Given the description of an element on the screen output the (x, y) to click on. 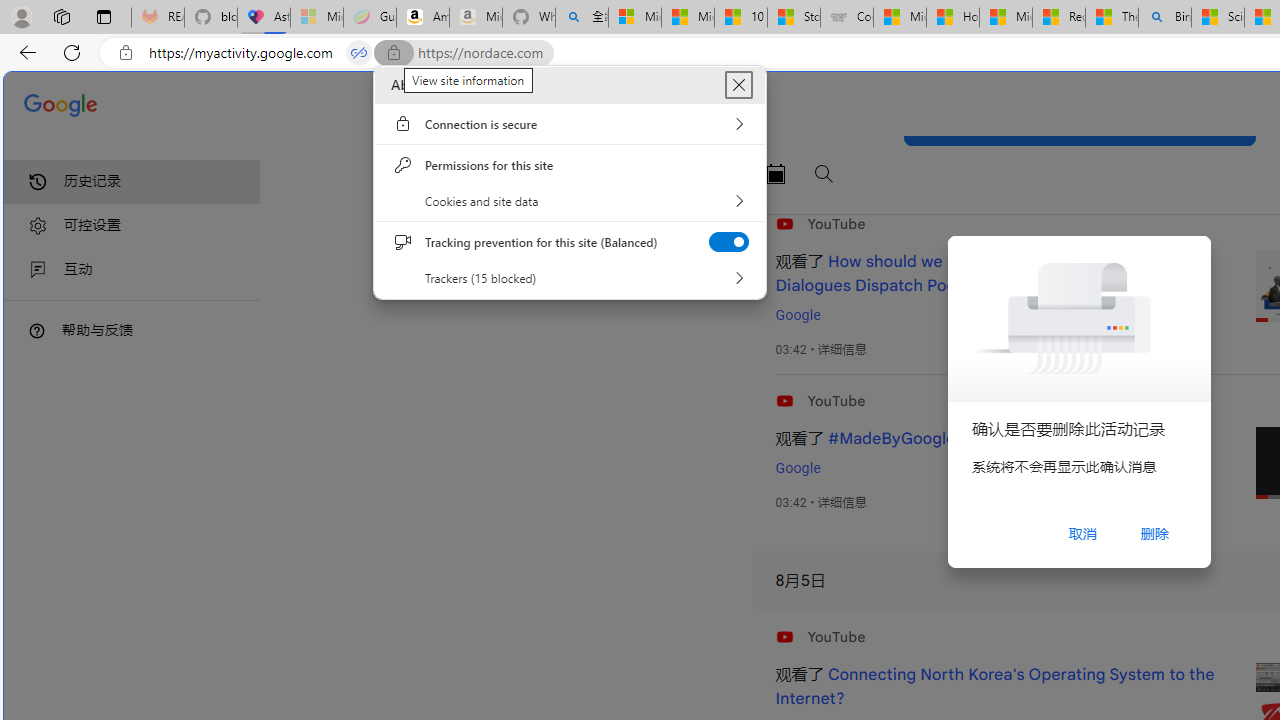
Cookies and site data (570, 200)
Tab actions menu (104, 16)
Refresh (72, 52)
Asthma Inhalers: Names and Types (264, 17)
Microsoft-Report a Concern to Bing - Sleeping (316, 17)
Connecting North Korea's Operating System to the Internet? (994, 687)
Google (797, 468)
Science - MSN (1217, 17)
